Given the description of an element on the screen output the (x, y) to click on. 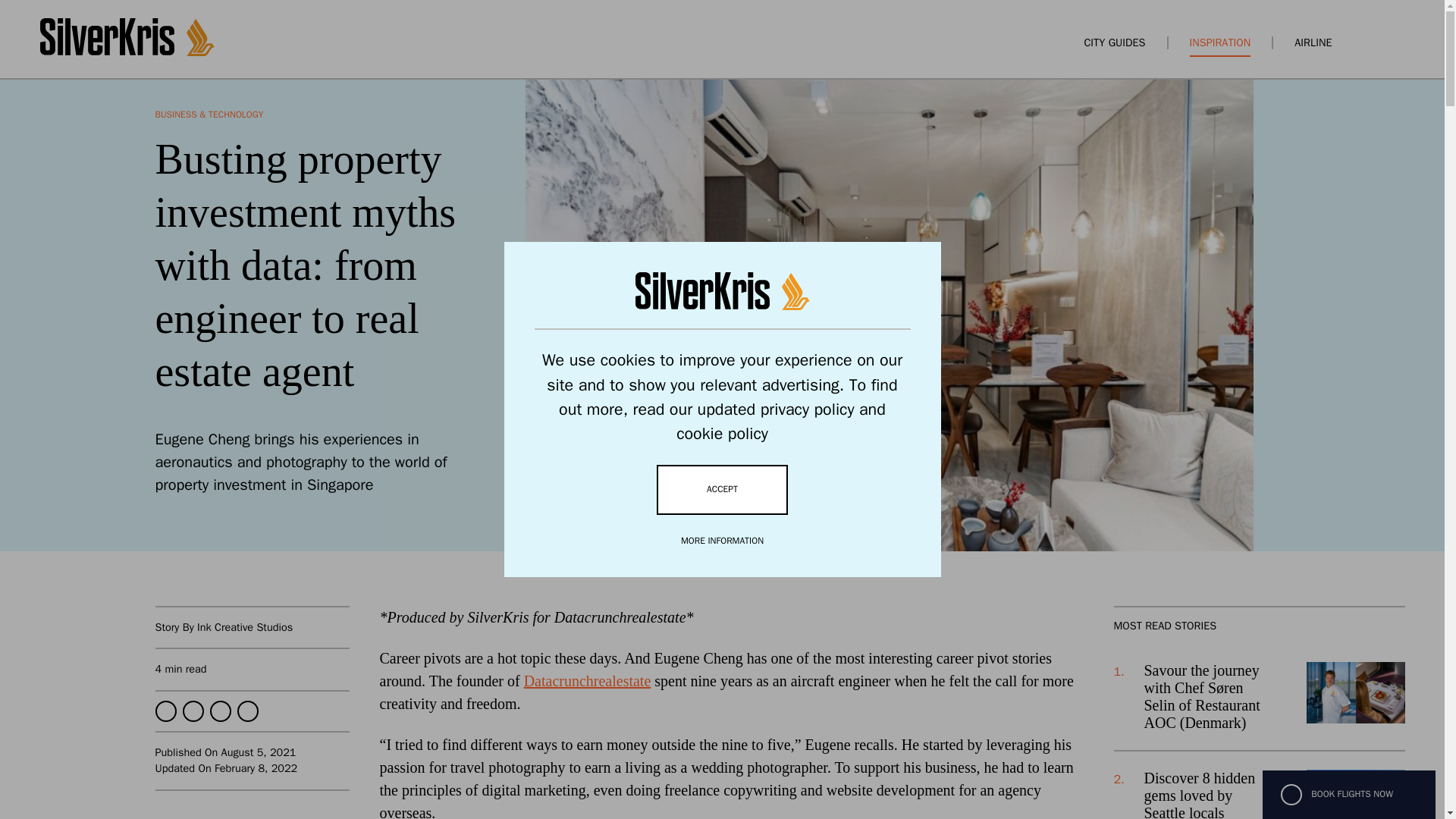
Pinterest (246, 711)
WhatsApp (219, 711)
Twitter (192, 711)
Ink Creative Studios (244, 626)
Open Menu (1397, 43)
Facebook (165, 711)
CITY GUIDES (1113, 42)
AIRLINE (1313, 42)
SilverKris (126, 51)
Open Search (1369, 43)
